Given the description of an element on the screen output the (x, y) to click on. 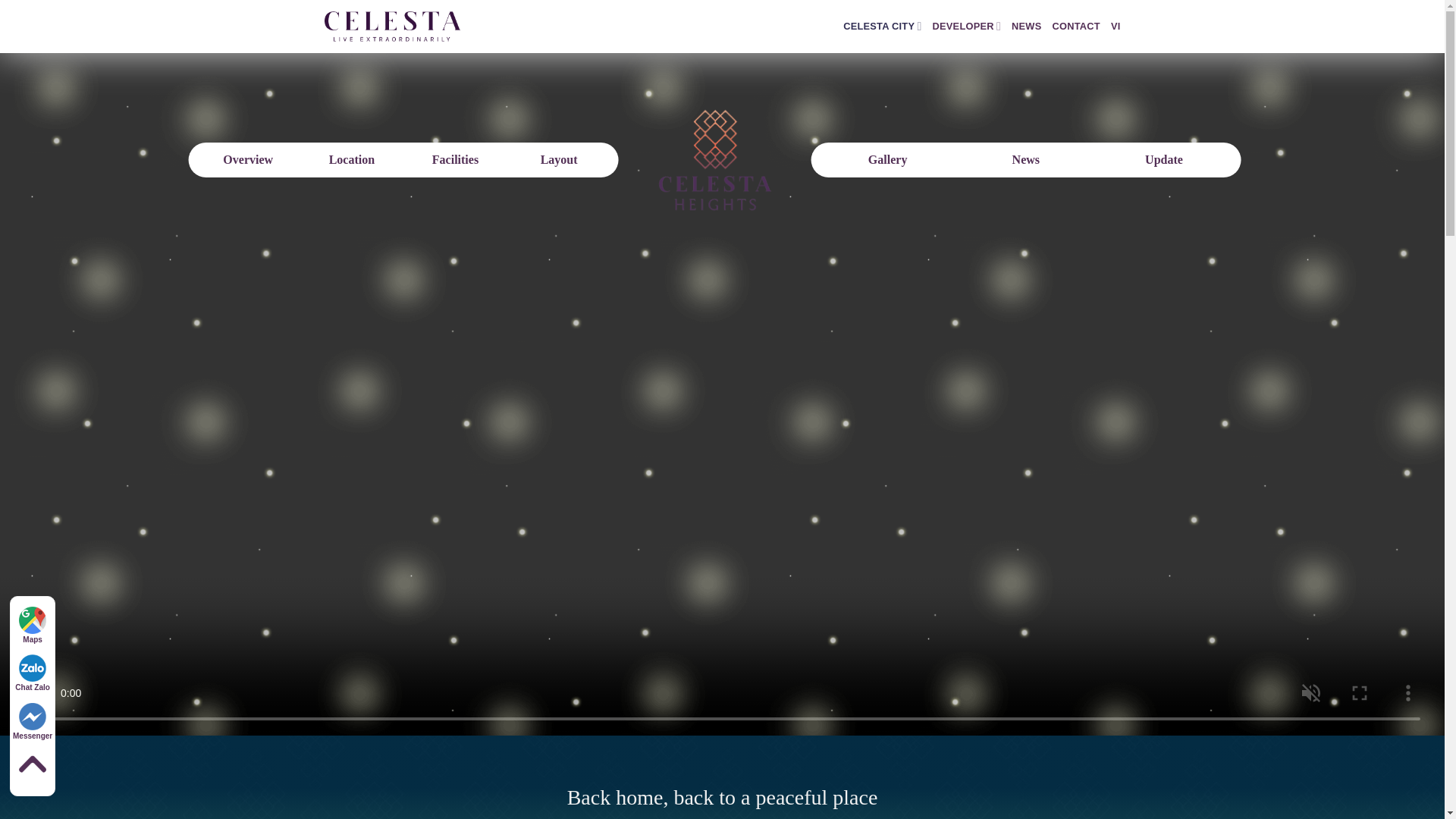
News (1025, 159)
DEVELOPER (967, 26)
Chat Zalo (32, 671)
Celesta Heights 1 (714, 160)
Messenger (32, 721)
Facilities (455, 159)
CELESTA CITY (882, 26)
Update (1164, 159)
NEWS (1026, 26)
Gallery (887, 159)
Layout (558, 159)
Overview (248, 159)
Maps (32, 624)
CONTACT (1075, 26)
Celesta City - Keppel Land (392, 25)
